Given the description of an element on the screen output the (x, y) to click on. 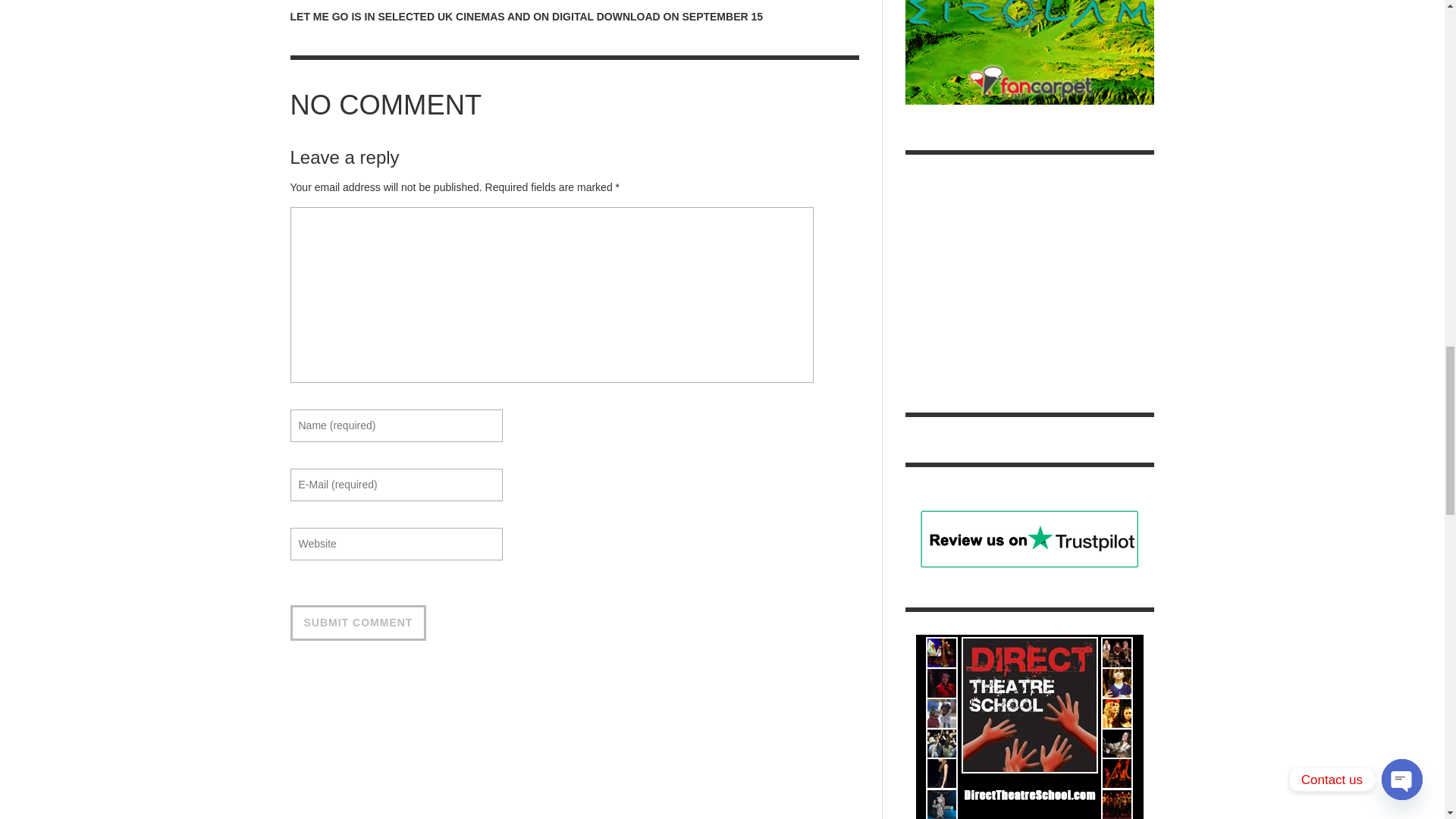
Submit comment (357, 622)
